Given the description of an element on the screen output the (x, y) to click on. 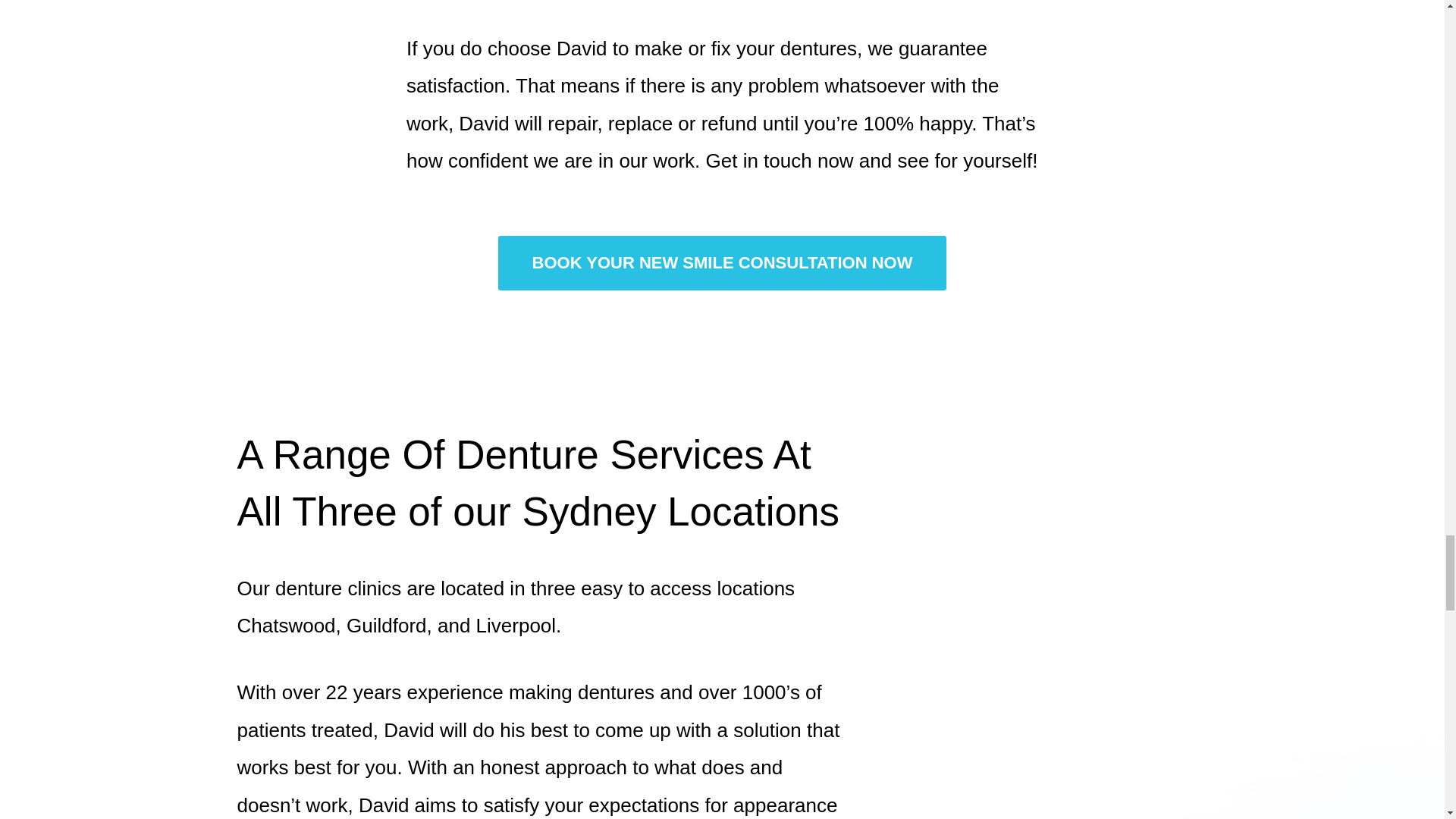
BOOK YOUR NEW SMILE CONSULTATION NOW (722, 262)
